Given the description of an element on the screen output the (x, y) to click on. 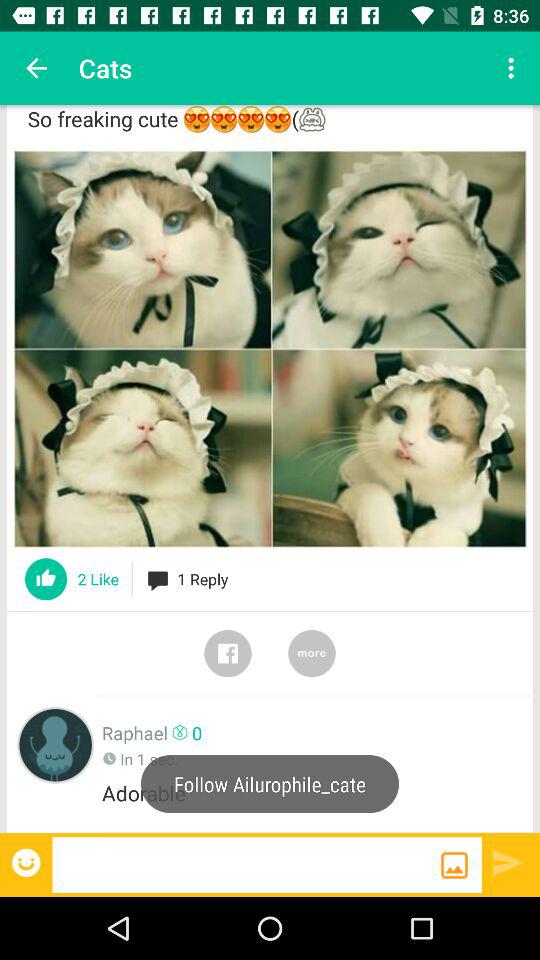
like the album (46, 579)
